Given the description of an element on the screen output the (x, y) to click on. 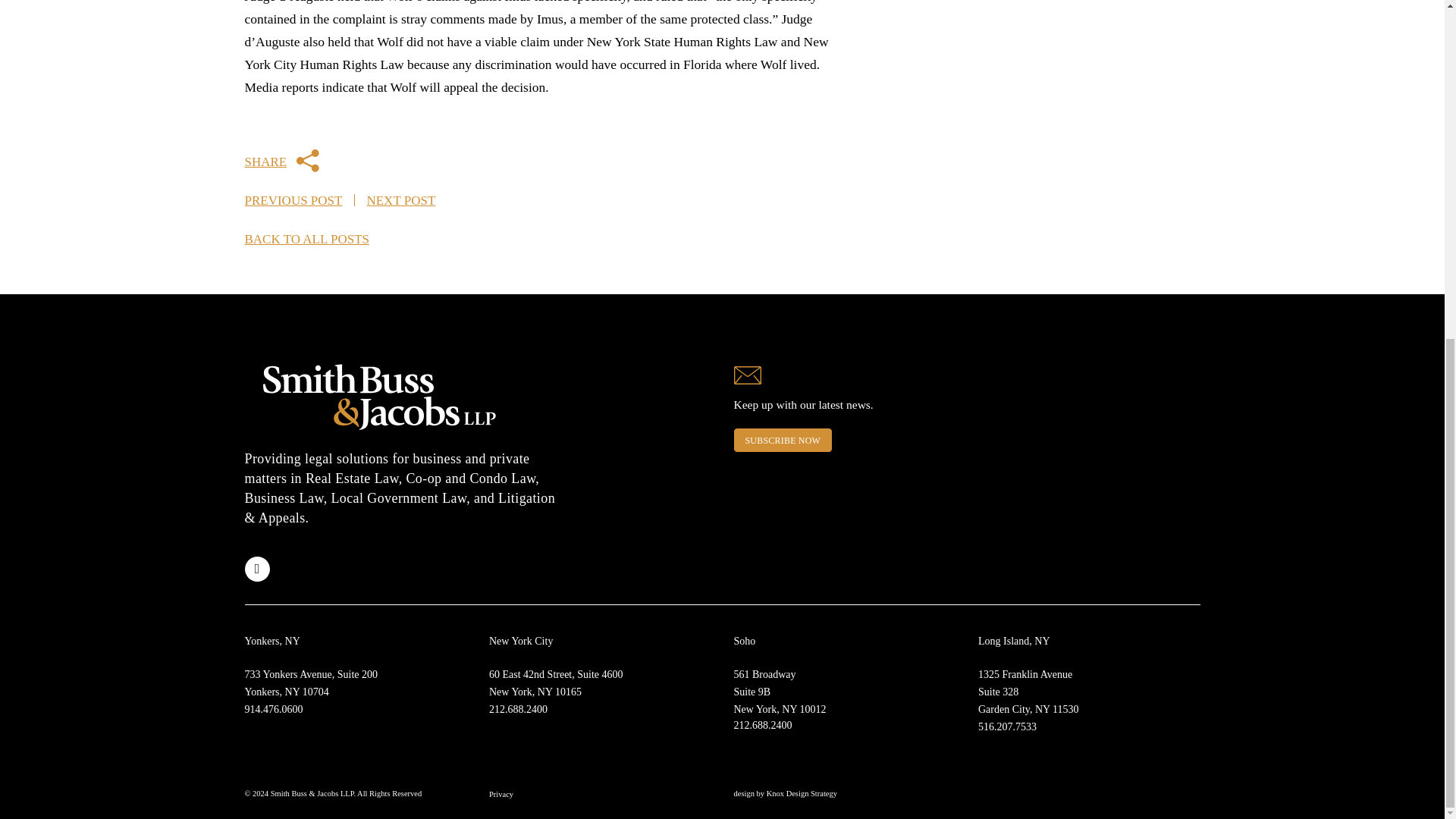
PREVIOUS POST (293, 200)
Privacy (501, 794)
212.688.2400 (762, 725)
Knox Design Strategy (802, 793)
212.688.2400 (518, 708)
NEXT POST (780, 691)
516.207.7533 (400, 200)
BACK TO ALL POSTS (1007, 726)
914.476.0600 (306, 238)
